Given the description of an element on the screen output the (x, y) to click on. 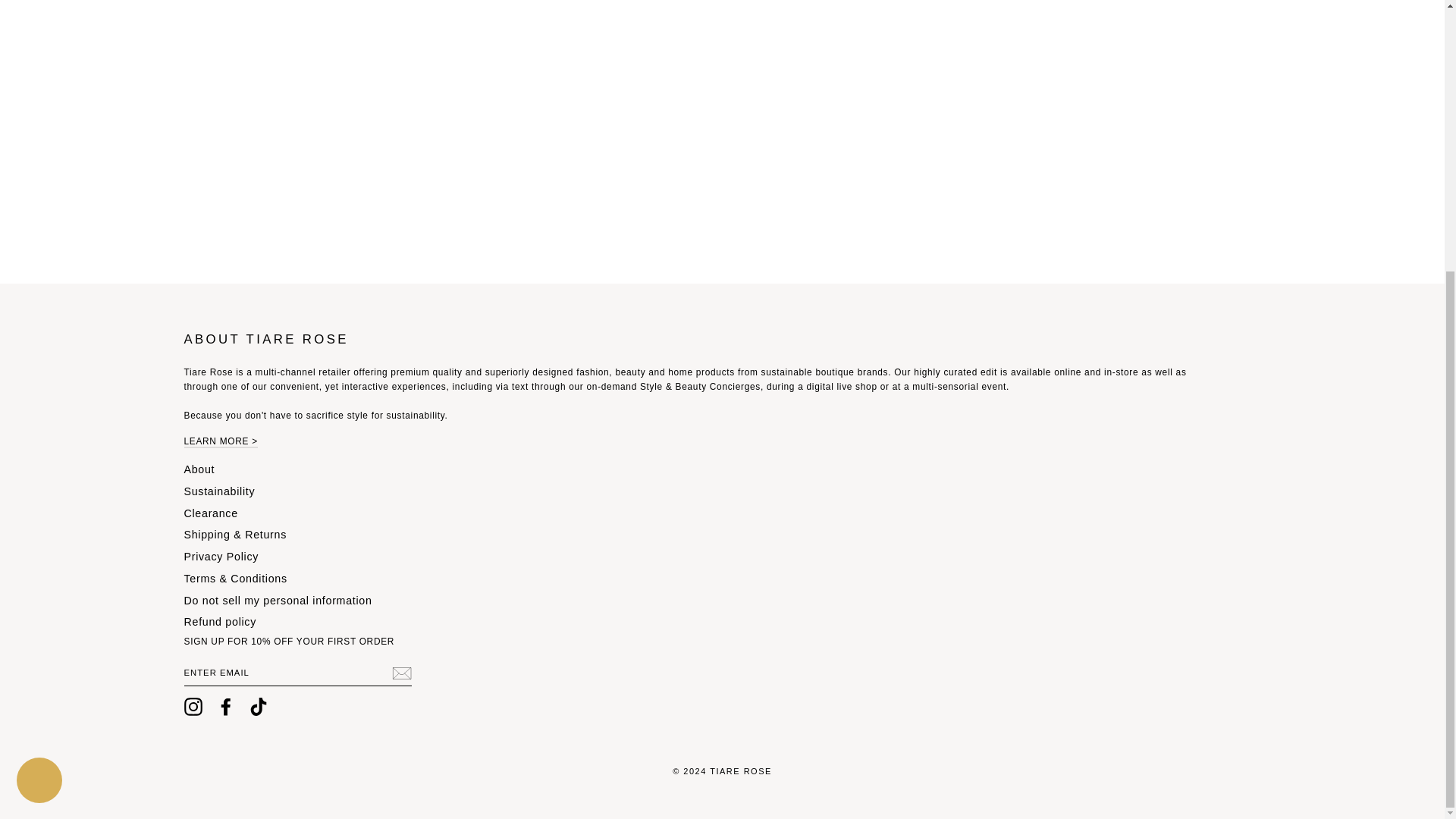
Tiare Rose on TikTok (257, 706)
Tiare Rose on Facebook (225, 706)
Shopify online store chat (38, 385)
Tiare Rose on Instagram (192, 706)
WHO We Are (220, 441)
